Given the description of an element on the screen output the (x, y) to click on. 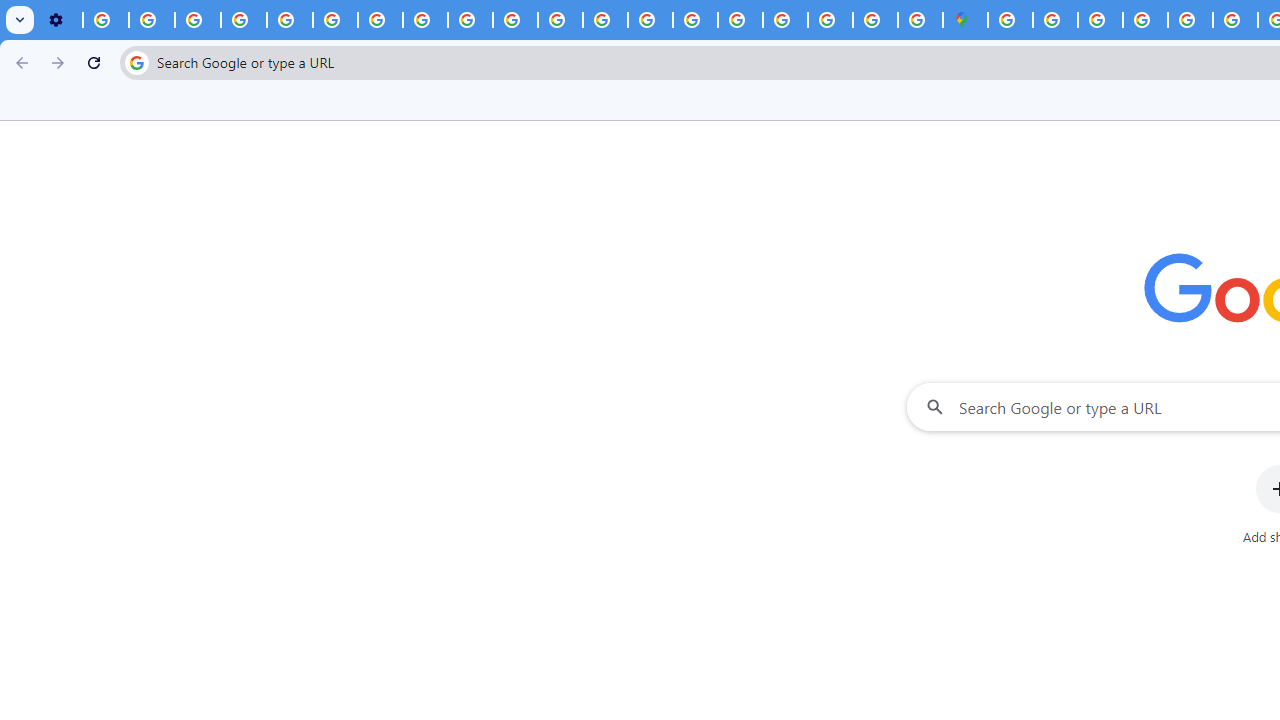
Delete photos & videos - Computer - Google Photos Help (106, 20)
Sign in - Google Accounts (1010, 20)
Privacy Help Center - Policies Help (605, 20)
Privacy Checkup (514, 20)
Terms and Conditions (1190, 20)
